Given the description of an element on the screen output the (x, y) to click on. 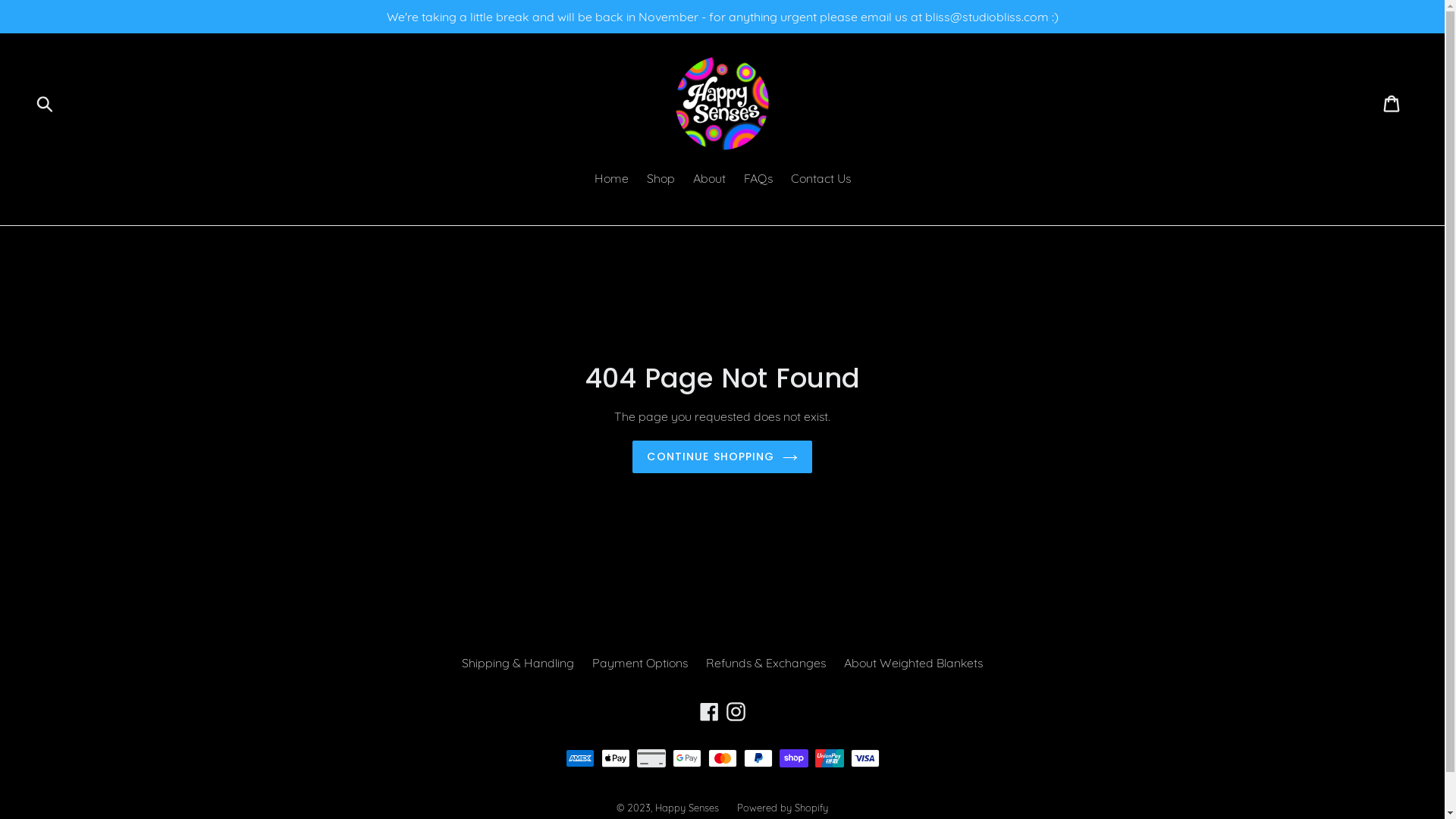
Instagram Element type: text (734, 711)
About Element type: text (709, 179)
FAQs Element type: text (757, 179)
Facebook Element type: text (709, 711)
Contact Us Element type: text (819, 179)
Home Element type: text (611, 179)
About Weighted Blankets Element type: text (913, 662)
Shipping & Handling Element type: text (517, 662)
Payment Options Element type: text (639, 662)
Cart Element type: text (1392, 102)
Powered by Shopify Element type: text (782, 807)
Submit Element type: text (45, 102)
CONTINUE SHOPPING Element type: text (721, 456)
Refunds & Exchanges Element type: text (765, 662)
Happy Senses Element type: text (686, 807)
Shop Element type: text (659, 179)
